Given the description of an element on the screen output the (x, y) to click on. 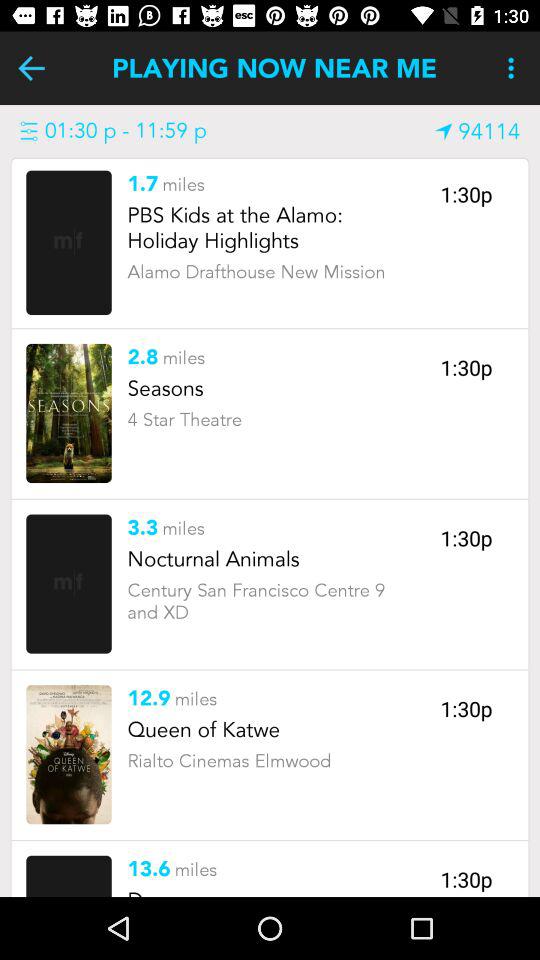
movie selection (68, 413)
